Given the description of an element on the screen output the (x, y) to click on. 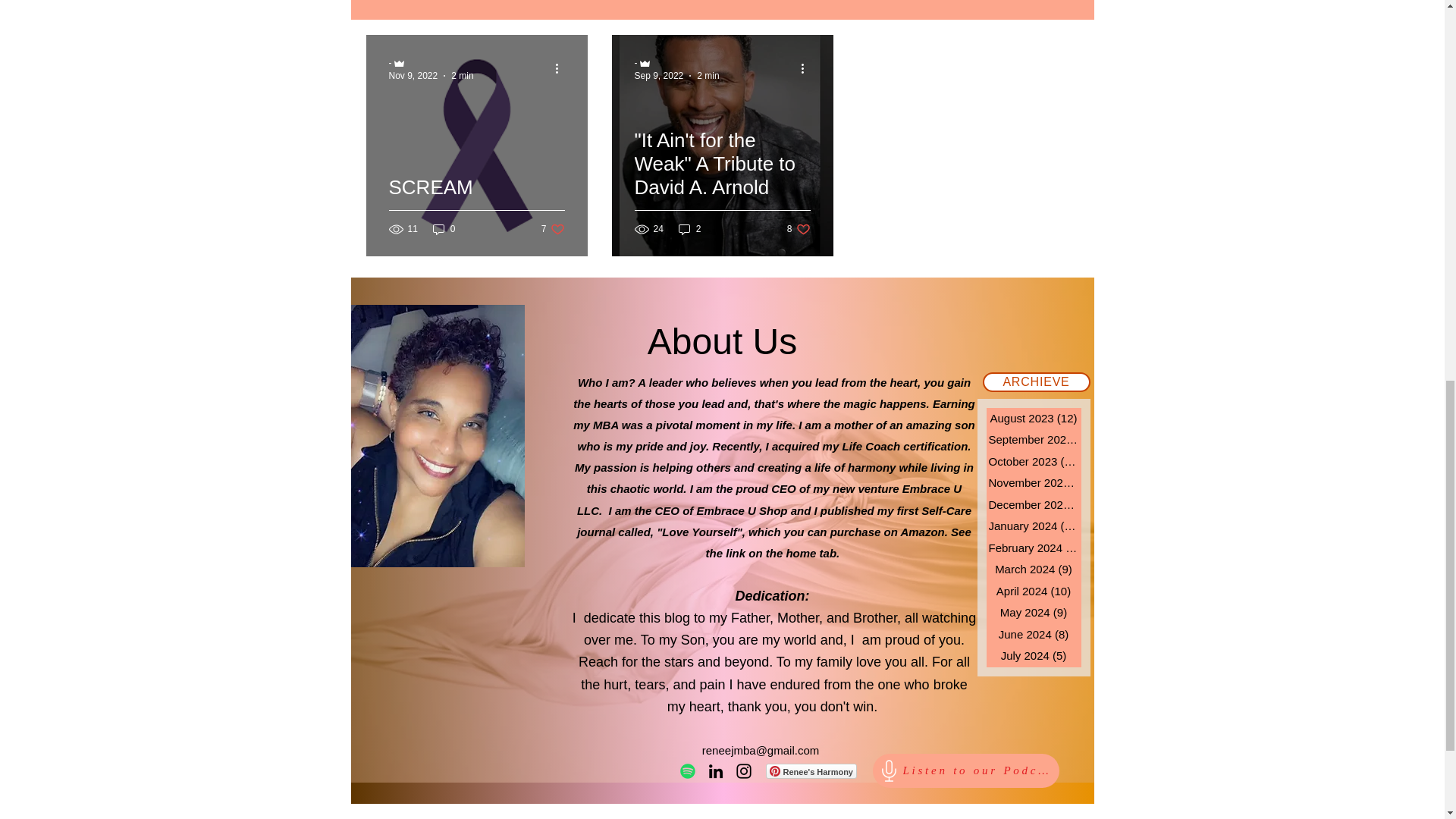
"It Ain't for the Weak" A Tribute to David A. Arnold (721, 181)
SCREAM (476, 205)
Nov 9, 2022 (413, 74)
2 min (462, 74)
ARCHIEVE (1036, 382)
- (676, 63)
2 (690, 228)
- (430, 63)
Sep 9, 2022 (657, 74)
Renee's Harmony (798, 228)
0 (811, 770)
2 min (552, 228)
